Given the description of an element on the screen output the (x, y) to click on. 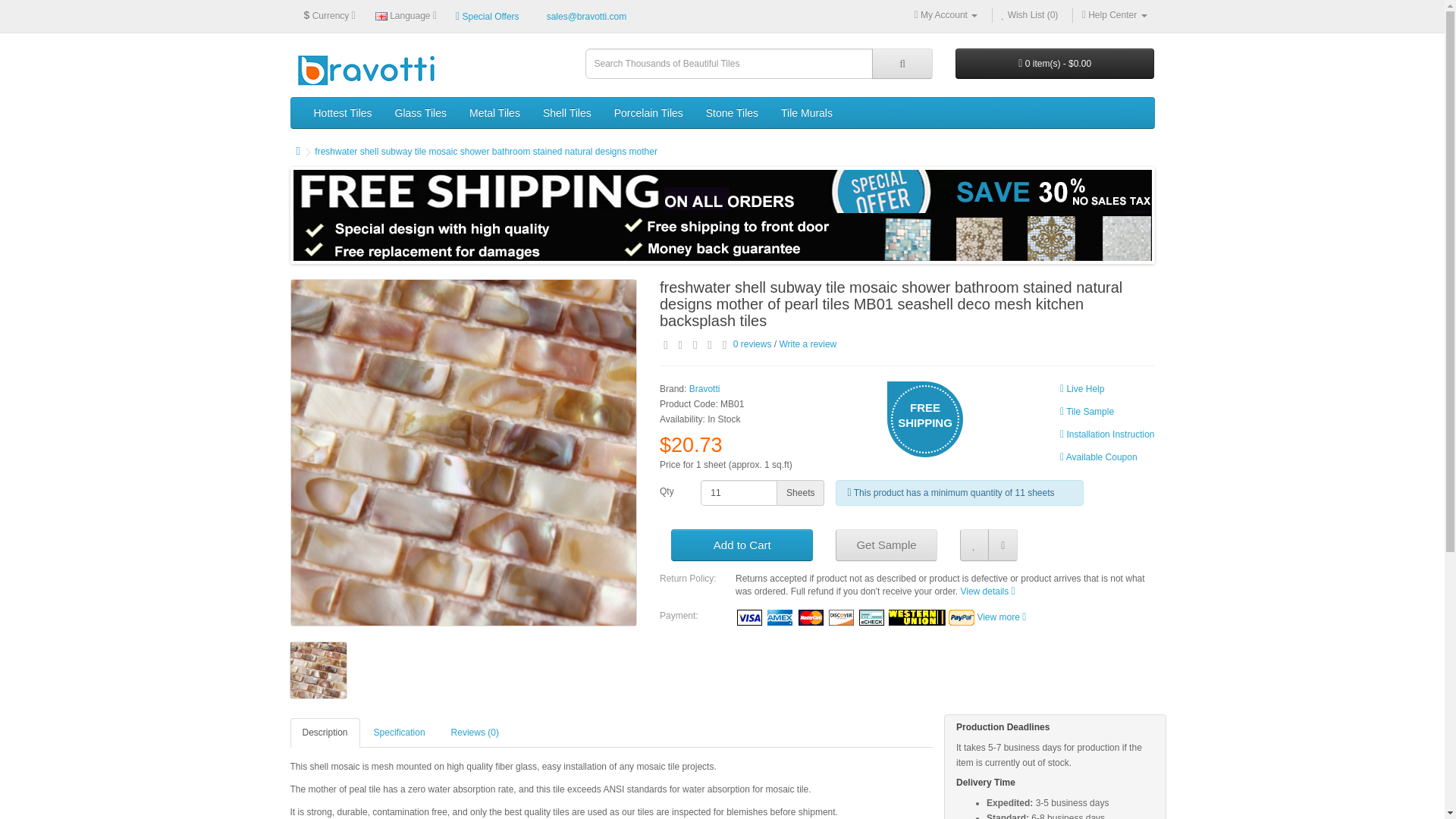
Bravotti (365, 68)
Help Center (1114, 14)
Add to Wish List (974, 545)
My Account (945, 14)
English (381, 16)
Compare this Product (1002, 545)
Metal Tiles (494, 112)
Help Center (1114, 14)
Glass Tiles (421, 112)
Shell Tiles (566, 112)
Language (405, 15)
My Account (945, 14)
